Given the description of an element on the screen output the (x, y) to click on. 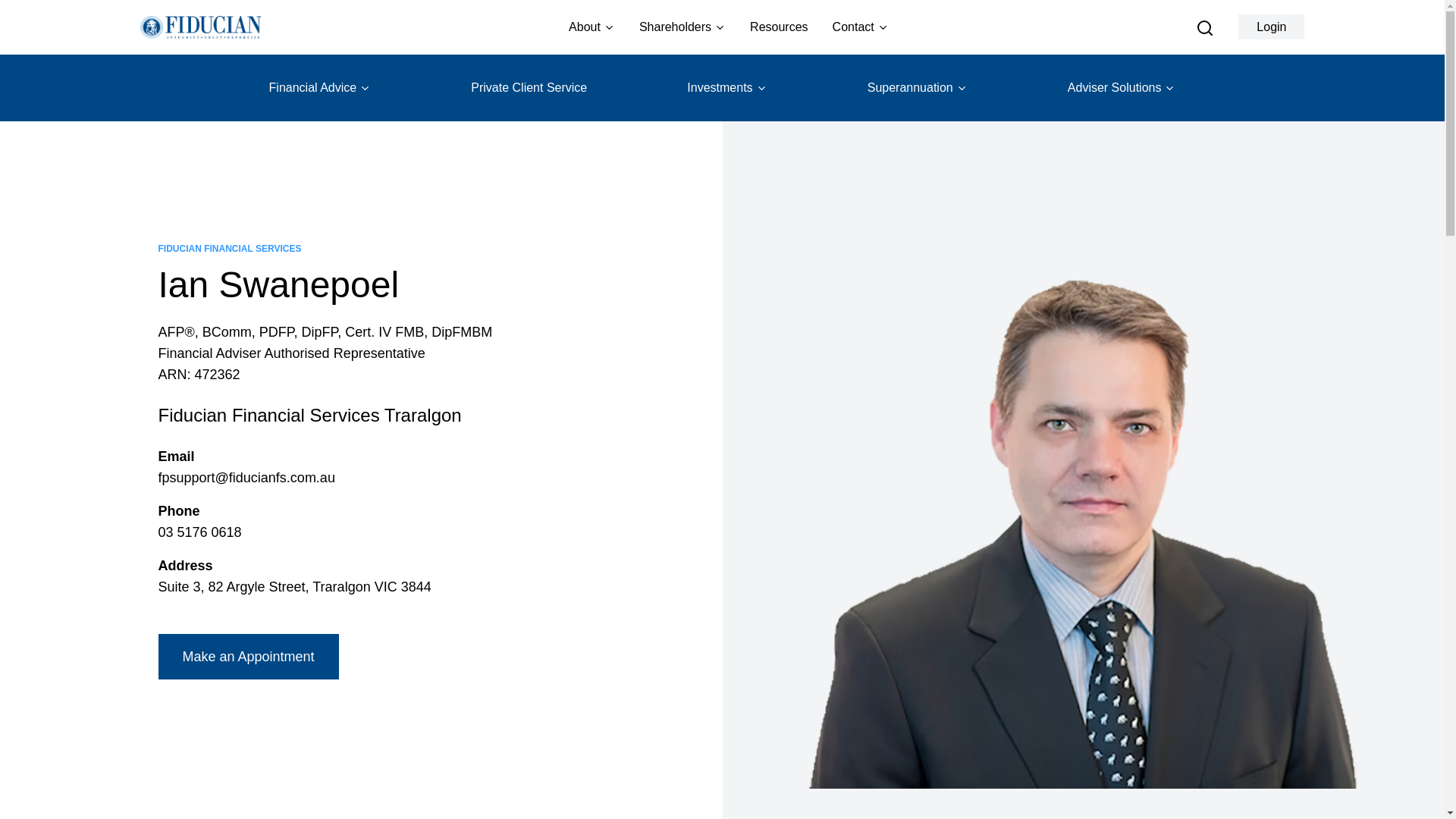
Private Client Service (528, 87)
Shareholders (682, 27)
Login (1271, 26)
Financial Advice (320, 87)
Superannuation (917, 87)
Investments (727, 87)
Contact (860, 27)
Adviser Solutions (1121, 87)
Back to homepage (199, 27)
Resources (778, 27)
Make an Appointment (247, 656)
